Given the description of an element on the screen output the (x, y) to click on. 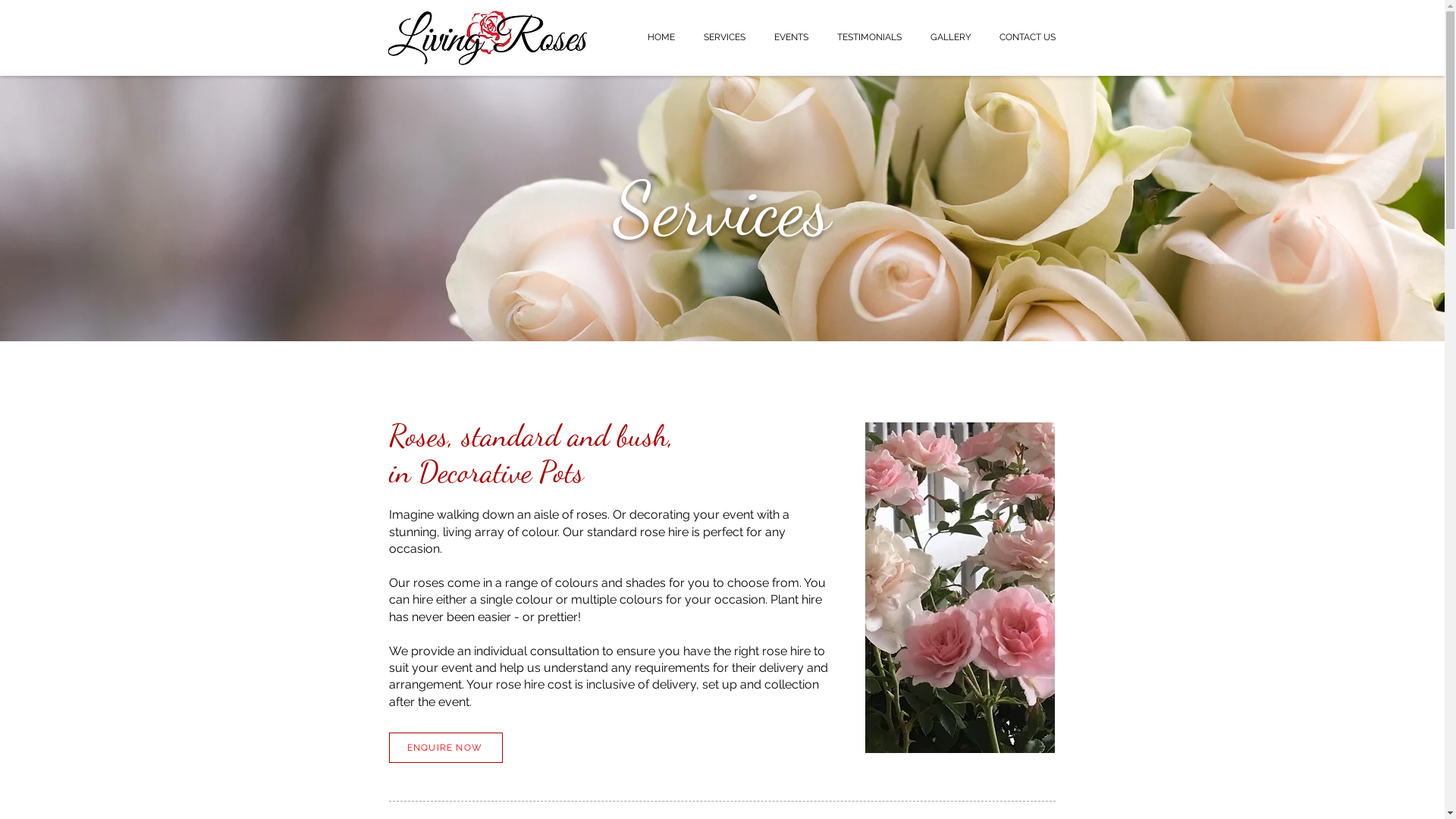
Roses, standard and bush, Element type: text (530, 435)
SERVICES Element type: text (723, 37)
in Decorative Pots Element type: text (485, 471)
CONTACT US Element type: text (1027, 37)
EVENTS Element type: text (790, 37)
ENQUIRE NOW Element type: text (445, 747)
TESTIMONIALS Element type: text (868, 37)
GALLERY Element type: text (950, 37)
HOME Element type: text (660, 37)
